Given the description of an element on the screen output the (x, y) to click on. 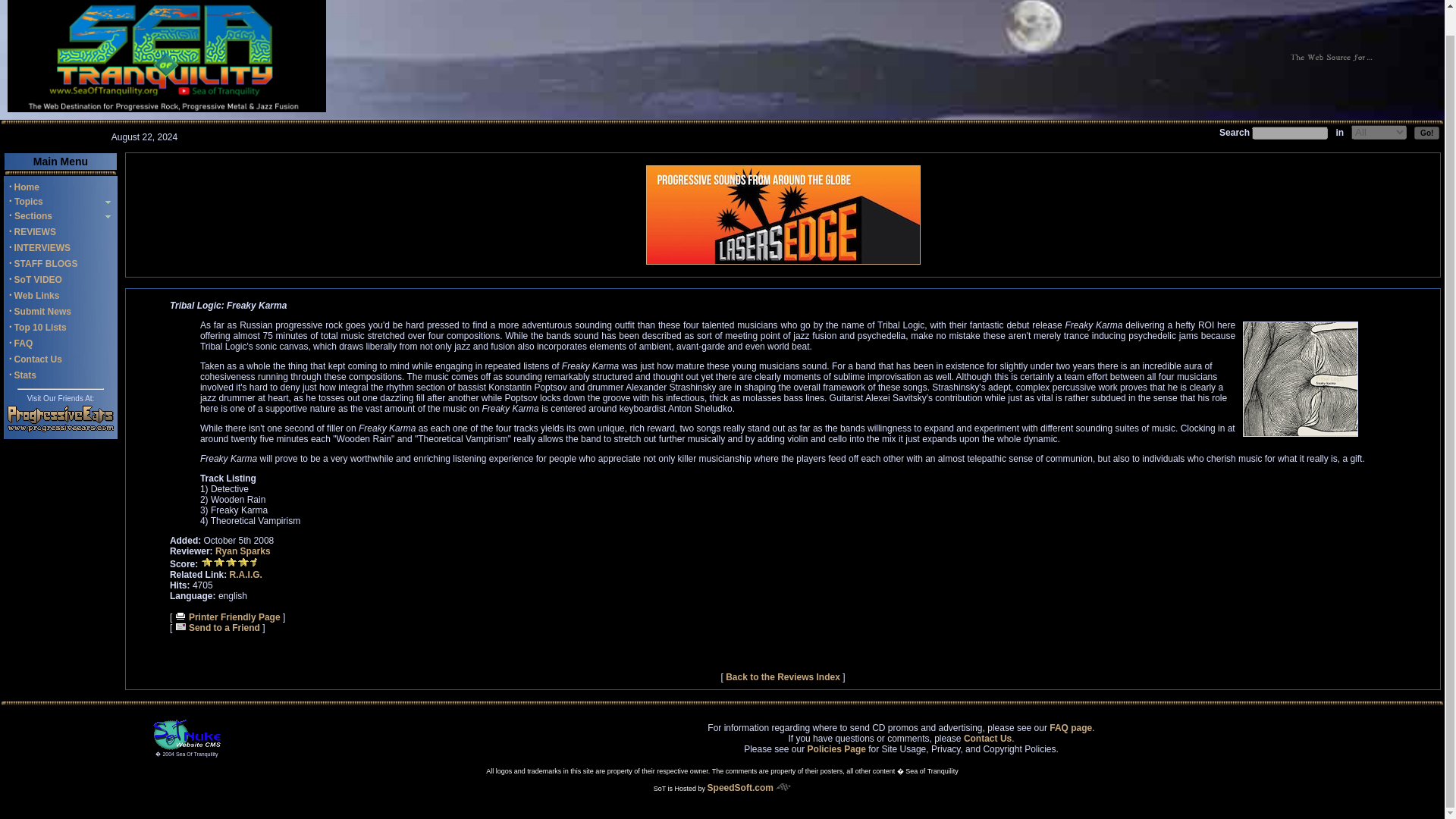
SoT VIDEO (38, 279)
REVIEWS (35, 231)
Printer Friendly Page (227, 616)
Contact Us (38, 358)
Contact Us (987, 737)
Topics (27, 201)
FAQ (23, 343)
Back to the Reviews Index (782, 676)
Home (26, 186)
STAFF BLOGS (46, 263)
